Given the description of an element on the screen output the (x, y) to click on. 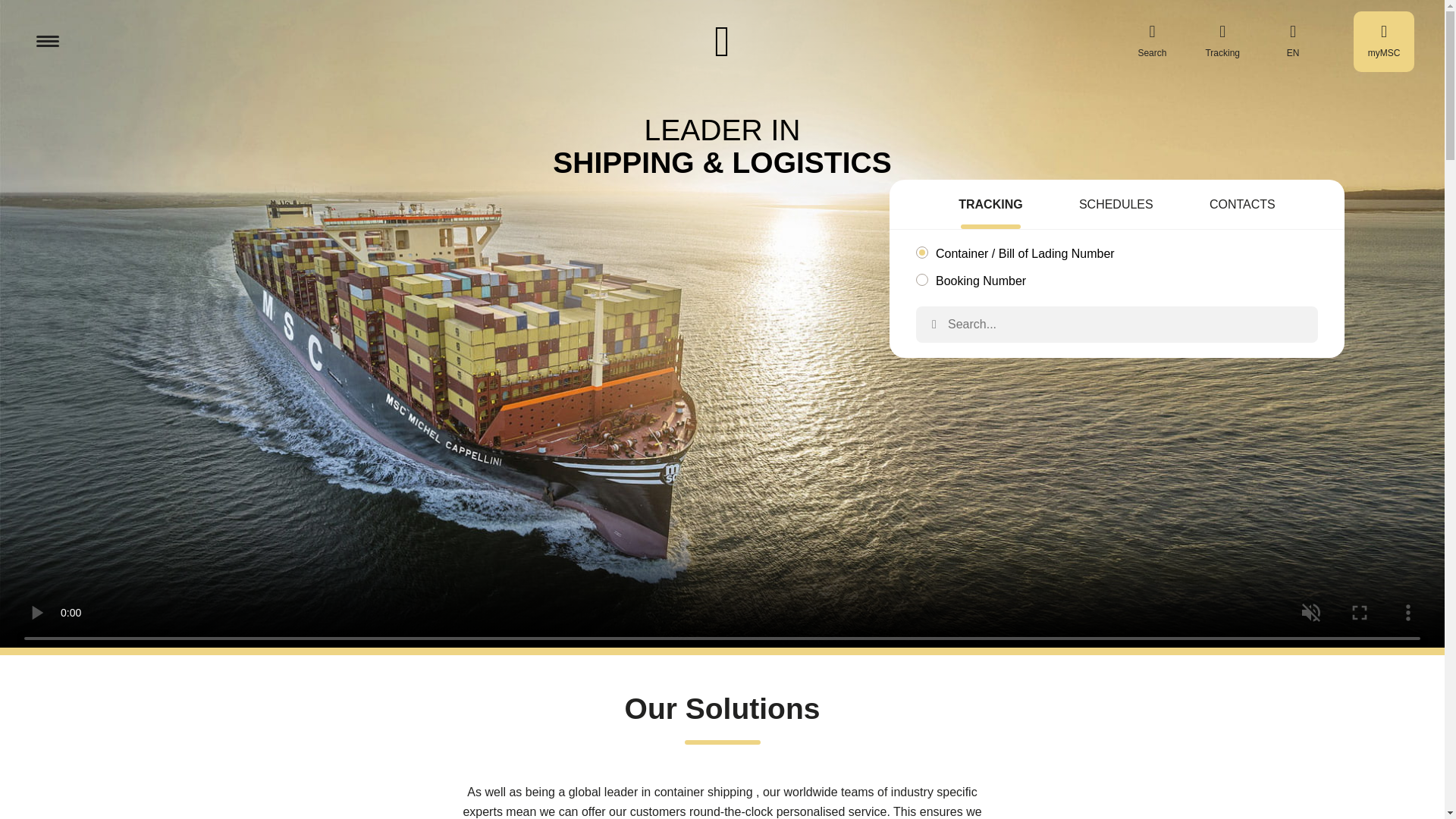
CONTACTS (1241, 205)
TRACKING (989, 205)
SCHEDULES (1116, 205)
